Given the description of an element on the screen output the (x, y) to click on. 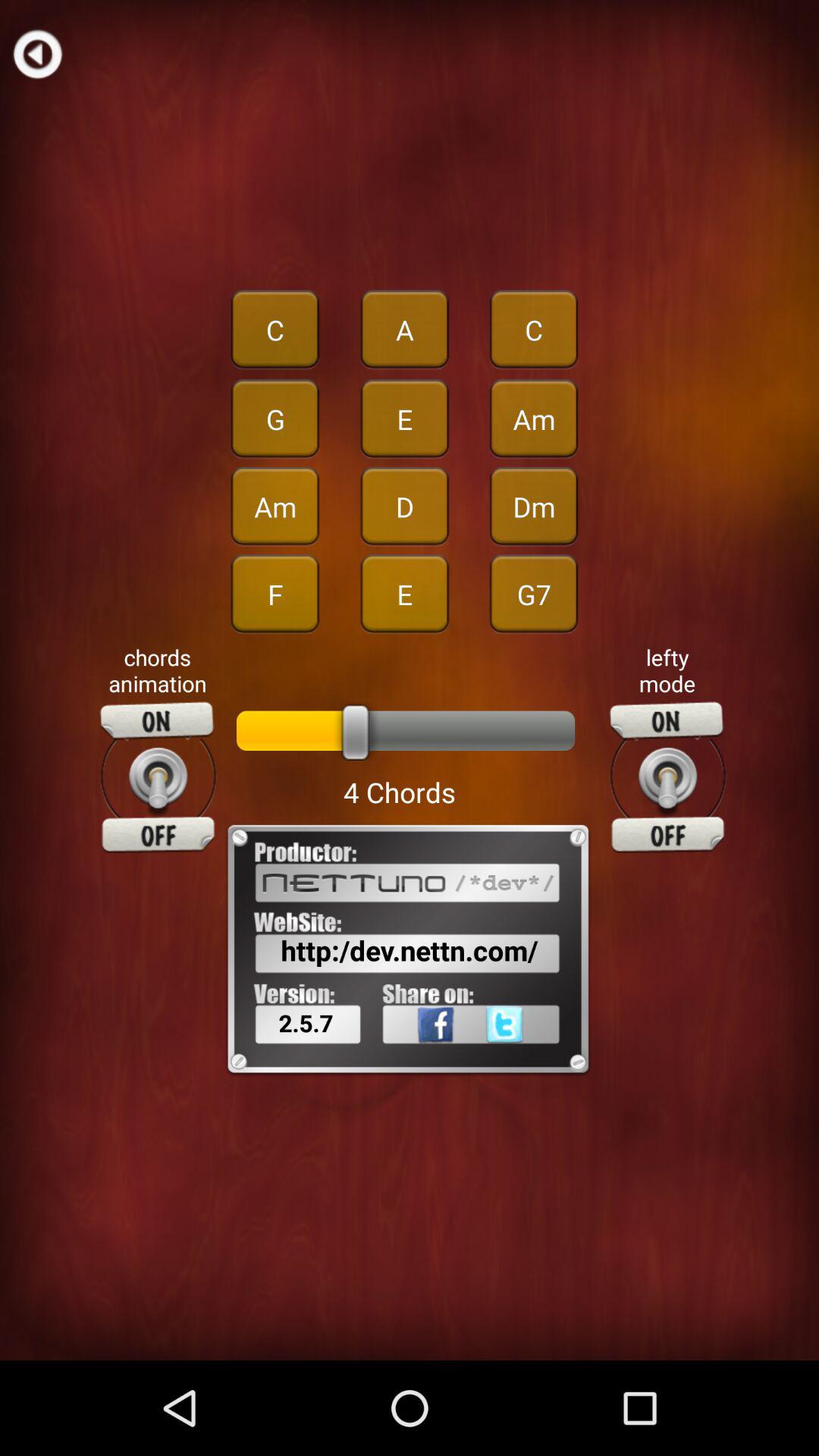
flip to http dev nettn item (409, 950)
